Given the description of an element on the screen output the (x, y) to click on. 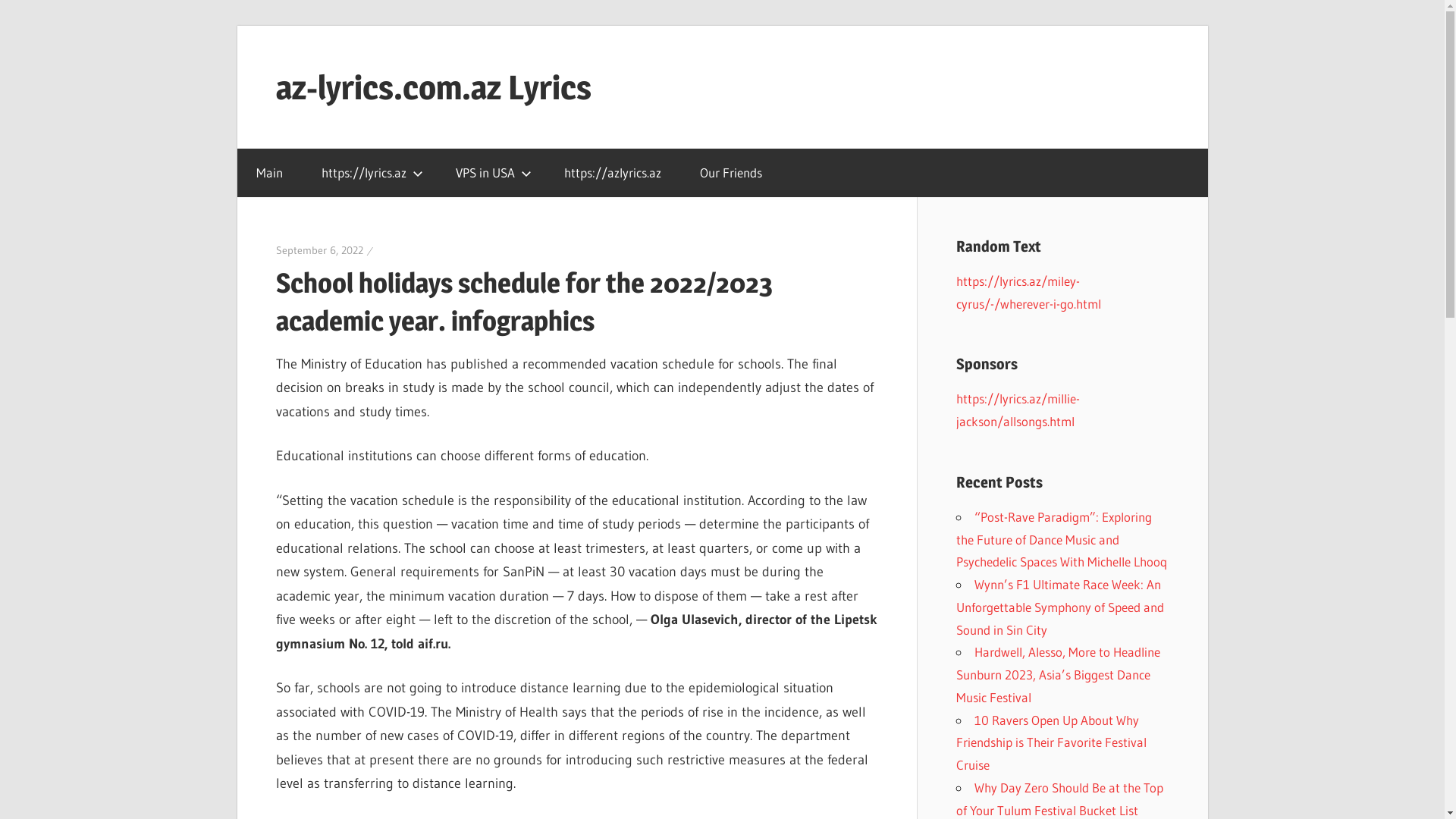
https://lyrics.az Element type: text (368, 172)
September 6, 2022 Element type: text (319, 250)
Our Friends Element type: text (730, 172)
https://lyrics.az/miley-cyrus/-/wherever-i-go.html Element type: text (1027, 292)
https://lyrics.az/millie-jackson/allsongs.html Element type: text (1017, 409)
VPS in USA Element type: text (490, 172)
Main Element type: text (268, 172)
Skip to content Element type: text (236, 25)
https://azlyrics.az Element type: text (612, 172)
az-lyrics.com.az Lyrics Element type: text (433, 86)
